Given the description of an element on the screen output the (x, y) to click on. 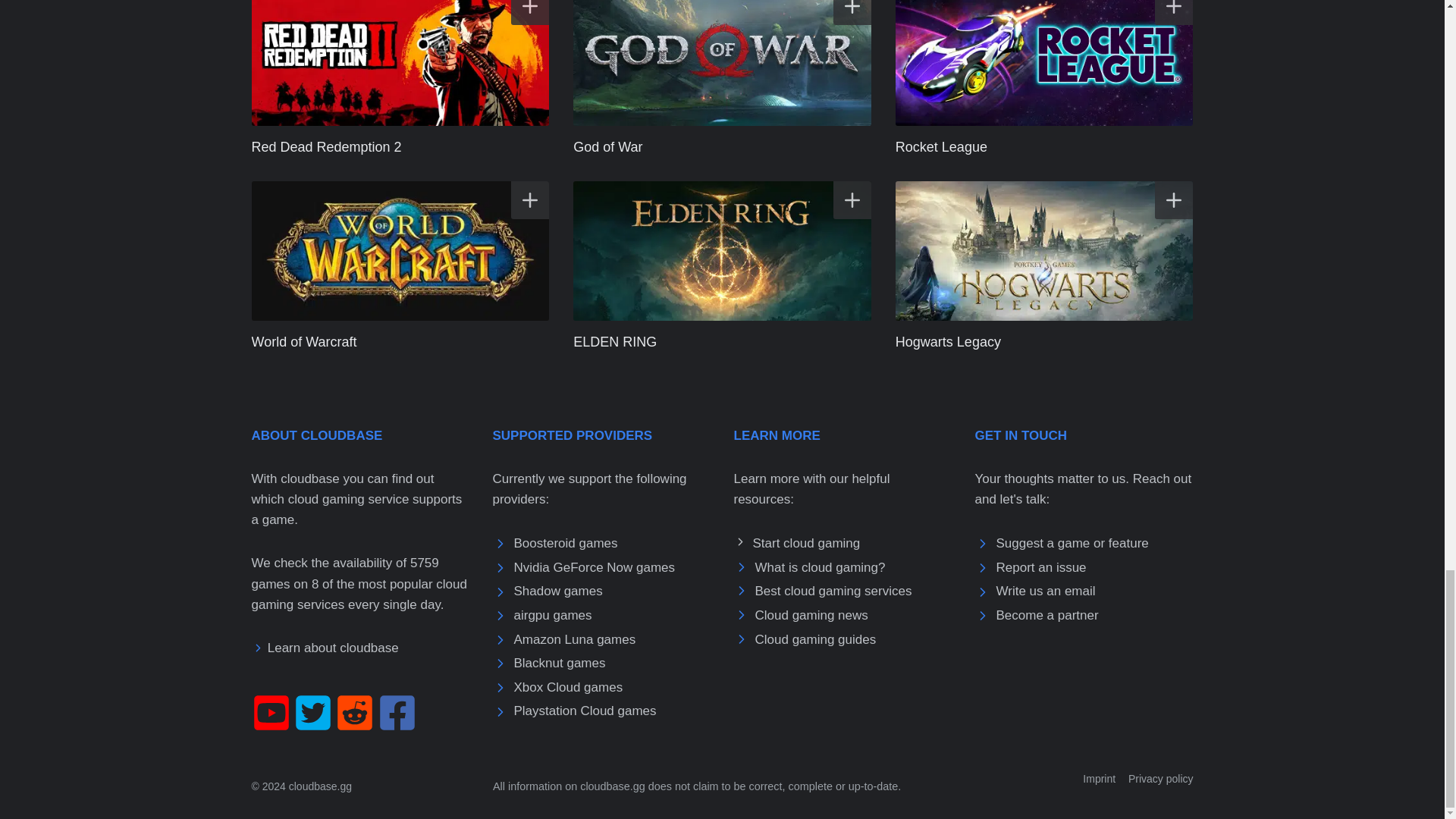
Hogwarts Legacy 8 (1044, 250)
Red Dead Redemption 2 3 (400, 63)
God of War 4 (721, 63)
Rocket League 5 (1044, 63)
World of Warcraft 6 (400, 250)
ELDEN RING 7 (721, 250)
